Given the description of an element on the screen output the (x, y) to click on. 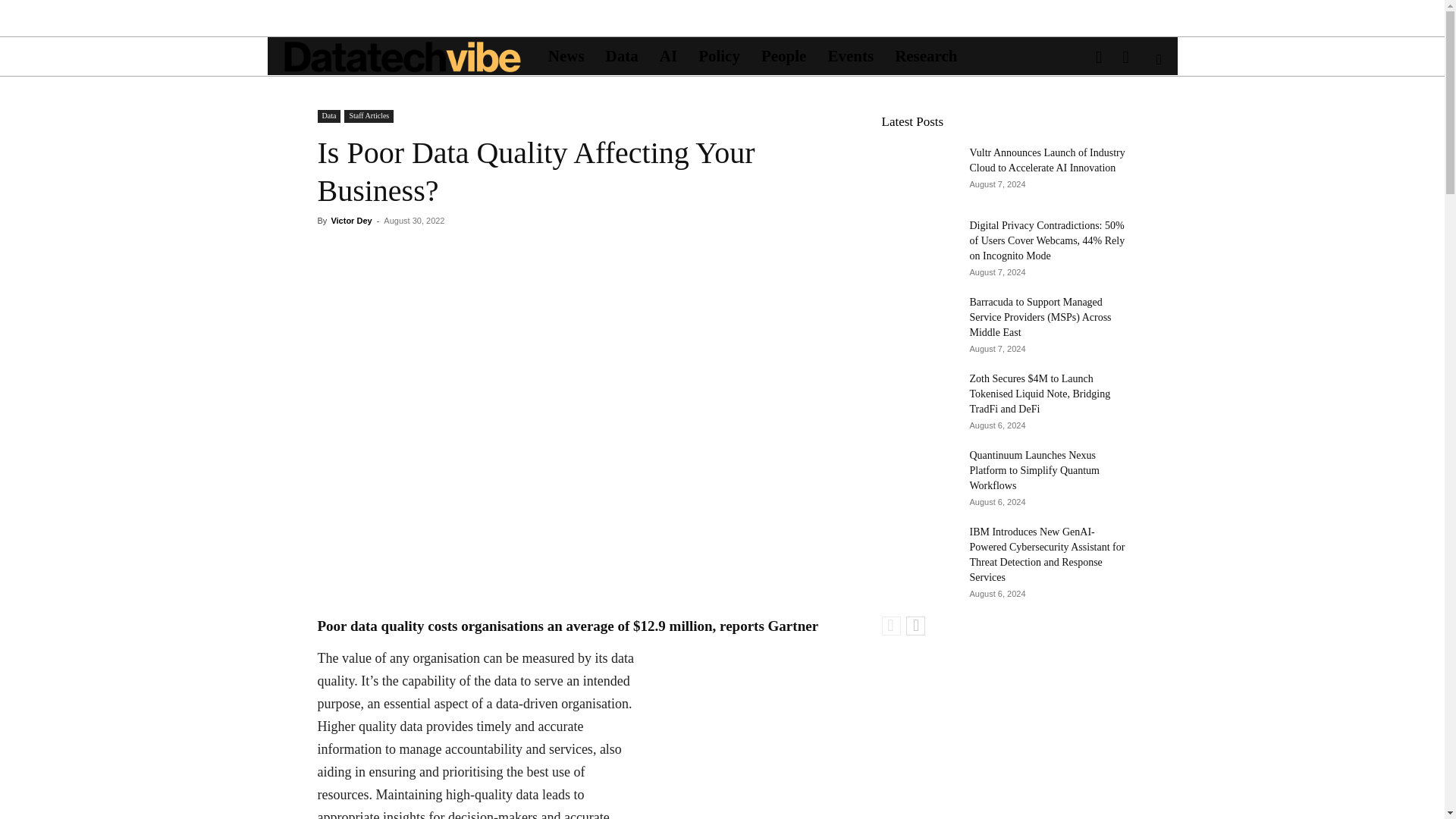
People (783, 55)
Victor Dey (350, 220)
AI (668, 55)
Search (1134, 125)
Data (622, 55)
News (566, 55)
Datatechvibe (401, 56)
Policy (719, 55)
Events (849, 55)
Data (328, 115)
